Given the description of an element on the screen output the (x, y) to click on. 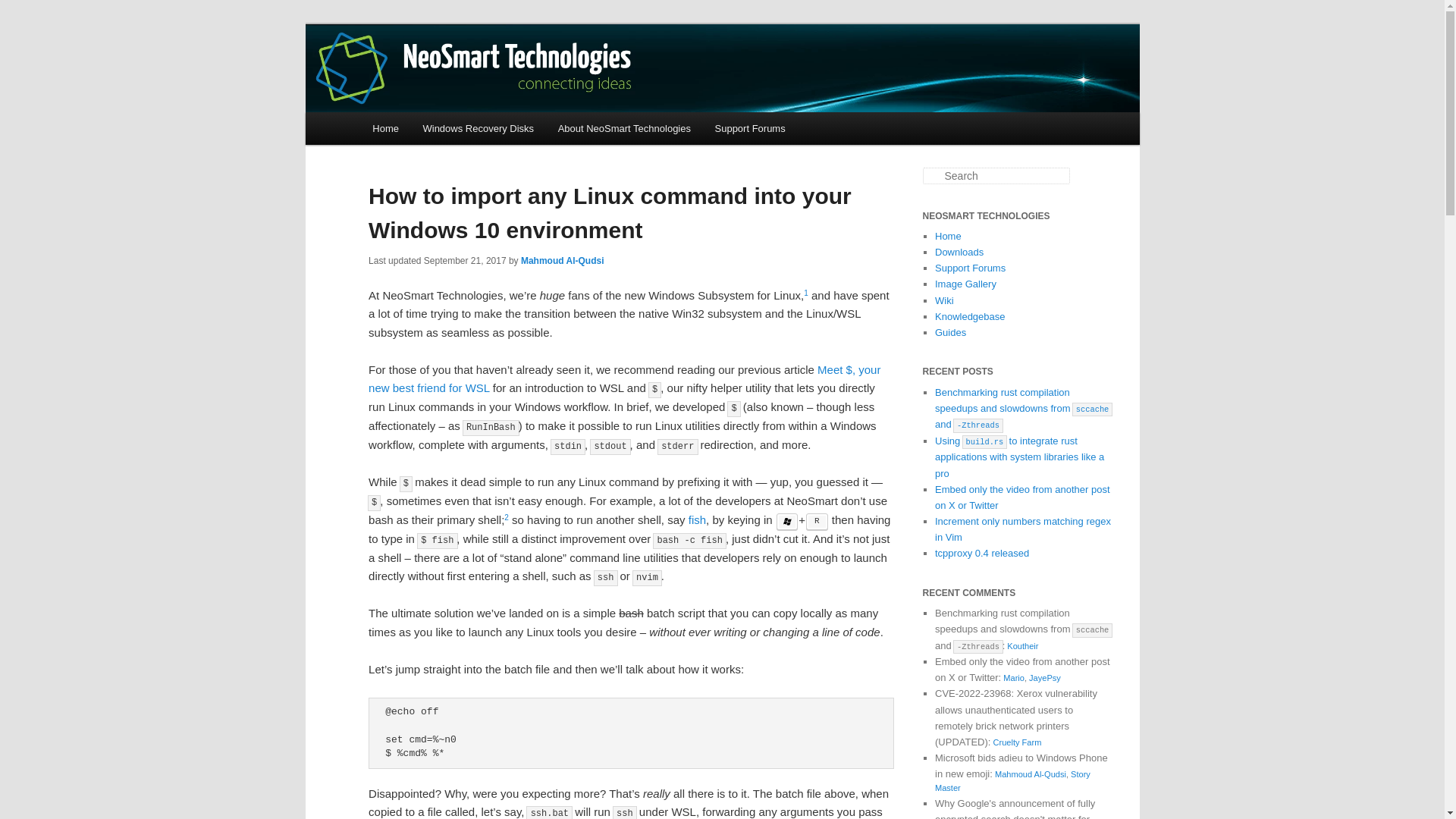
Search (21, 11)
fish (697, 519)
View all posts by Mahmoud Al-Qudsi (562, 260)
Home (947, 235)
Windows Recovery Disks (478, 128)
The NeoSmart Files (474, 78)
Mahmoud Al-Qudsi (562, 260)
Home (385, 128)
Support Forums (750, 128)
About NeoSmart Technologies (624, 128)
The NeoSmart Files (474, 78)
